Given the description of an element on the screen output the (x, y) to click on. 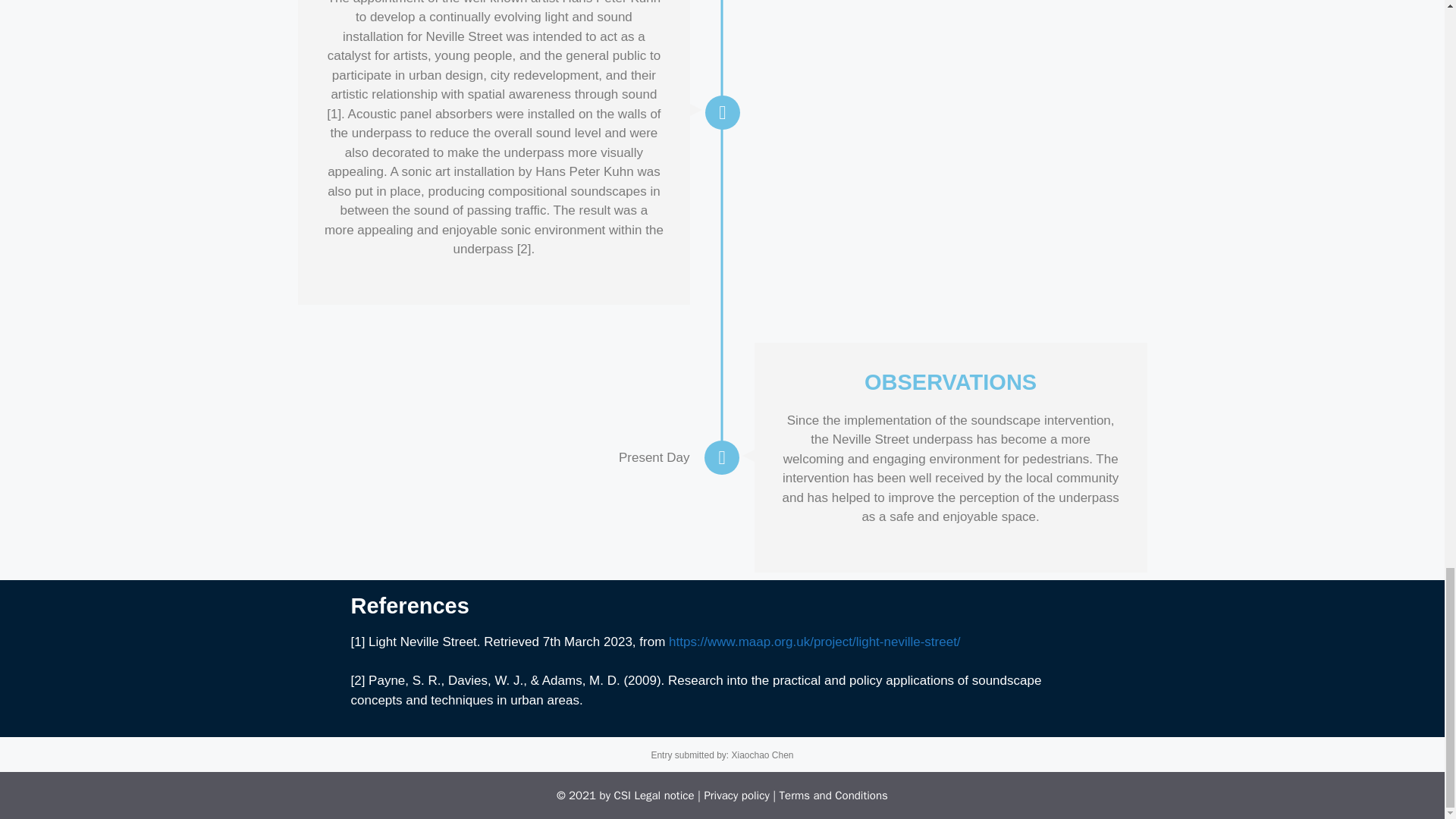
Legal notice (663, 795)
Terms and Conditions (833, 795)
Privacy policy (735, 795)
